Given the description of an element on the screen output the (x, y) to click on. 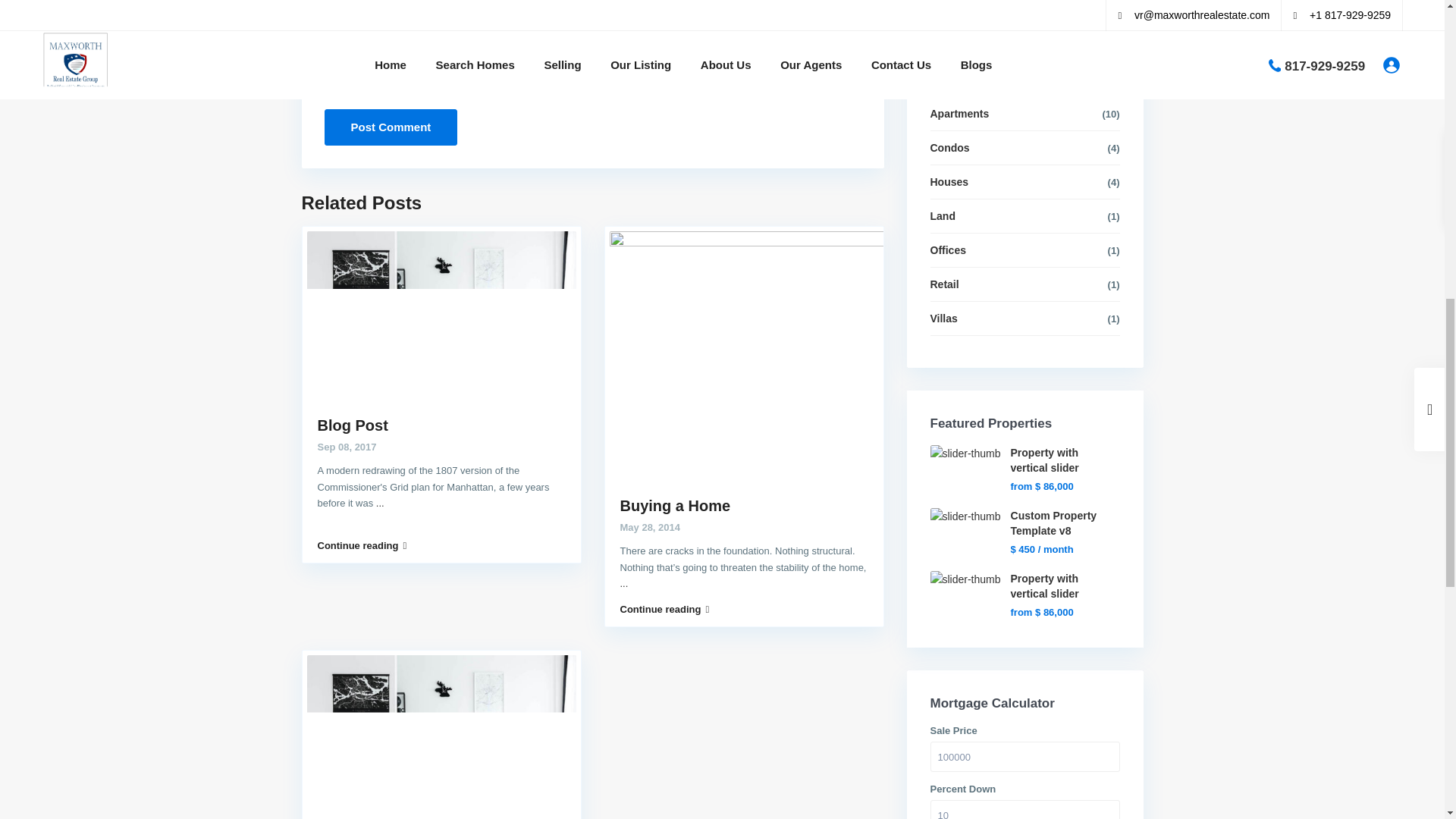
100000 (1024, 757)
yes (330, 93)
10 (1024, 809)
Post Comment (391, 126)
